Given the description of an element on the screen output the (x, y) to click on. 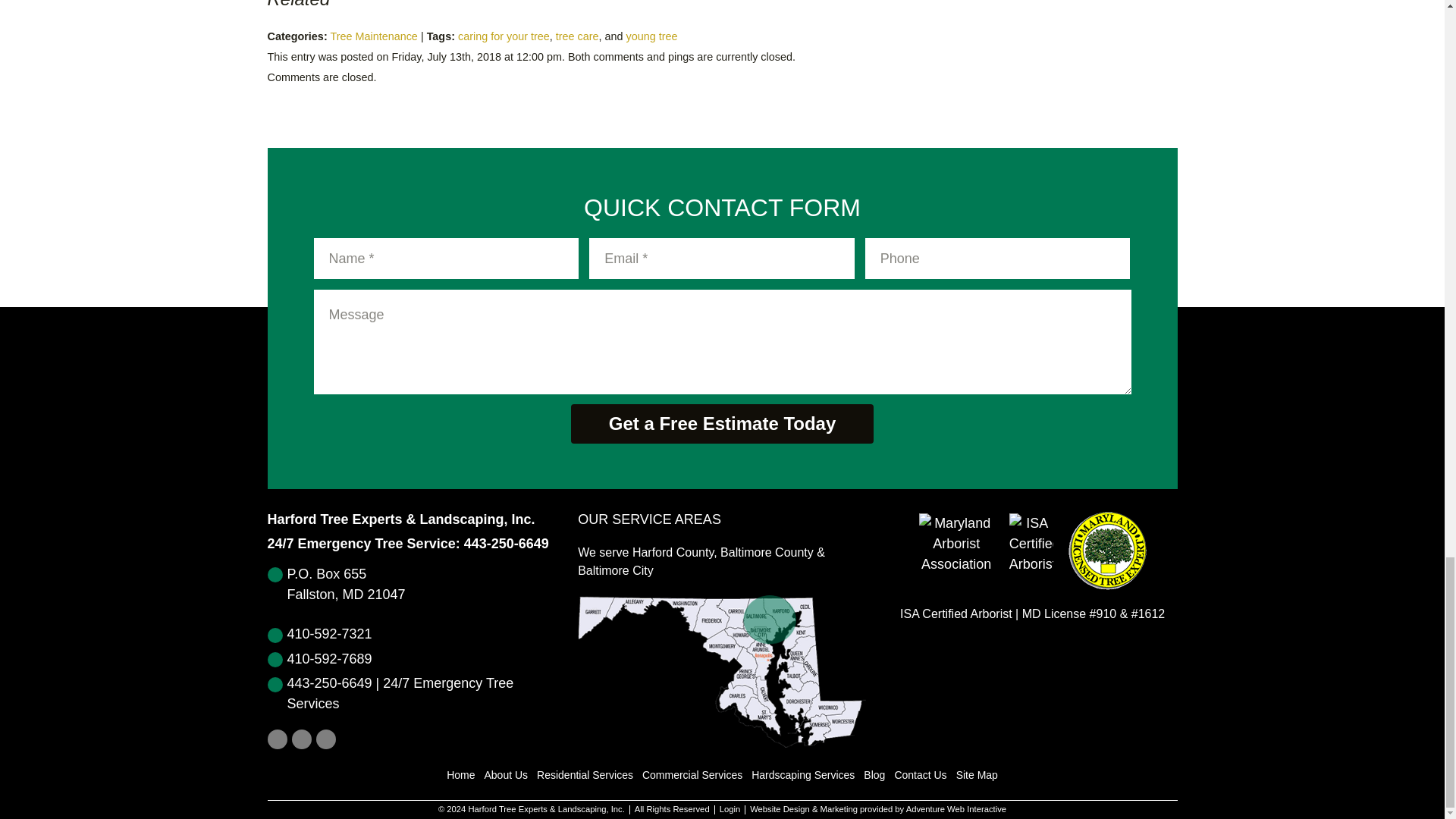
Tree Maintenance (373, 36)
Maryland Licensed Tree Expert (1107, 550)
Maryland Arborist Association (956, 550)
caring for your tree (504, 36)
map of MD (722, 671)
young tree (652, 36)
Get a Free Estimate Today (721, 423)
tree care (577, 36)
